Given the description of an element on the screen output the (x, y) to click on. 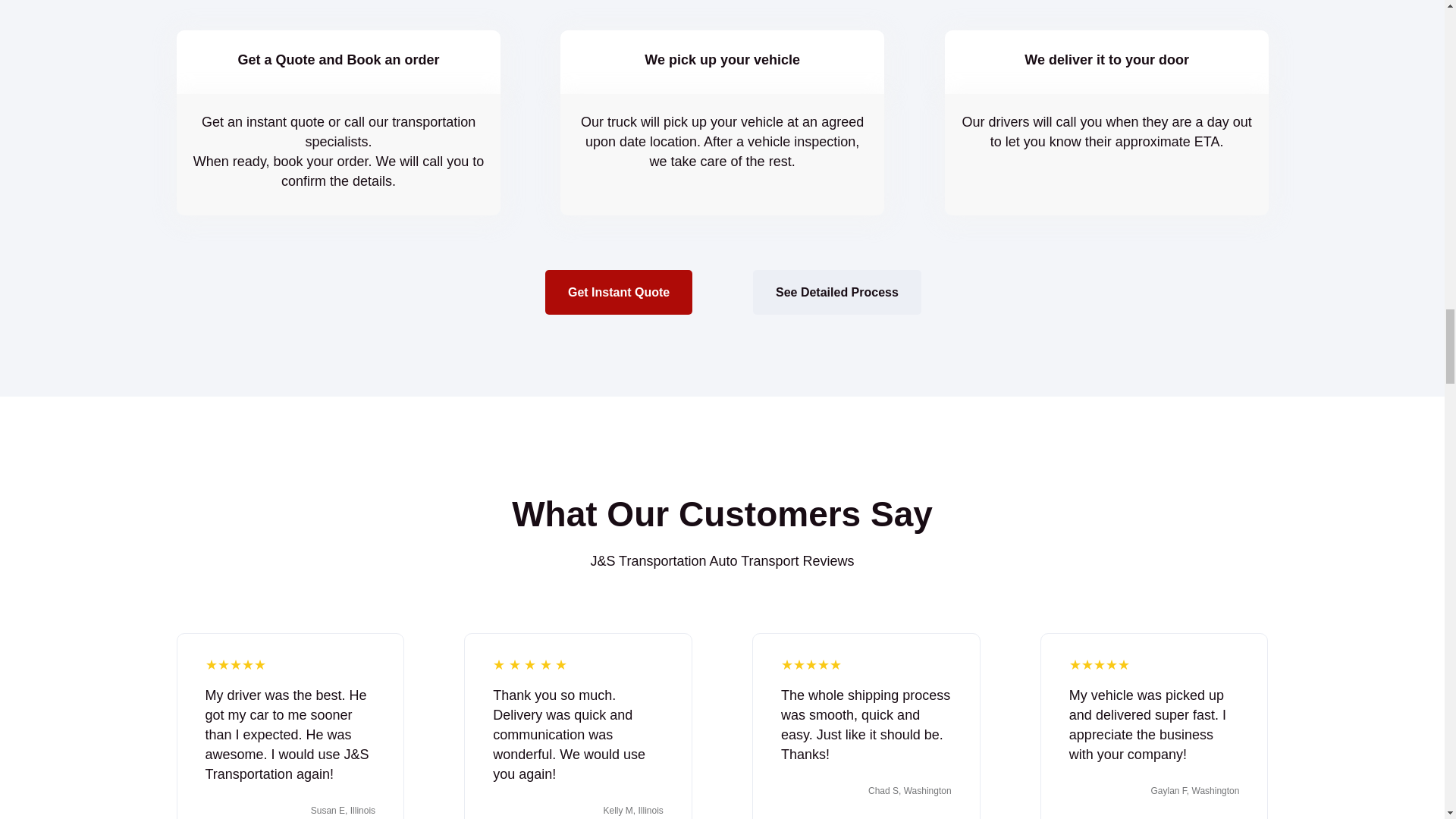
See Detailed Process (836, 292)
Get Instant Quote (618, 292)
